Given the description of an element on the screen output the (x, y) to click on. 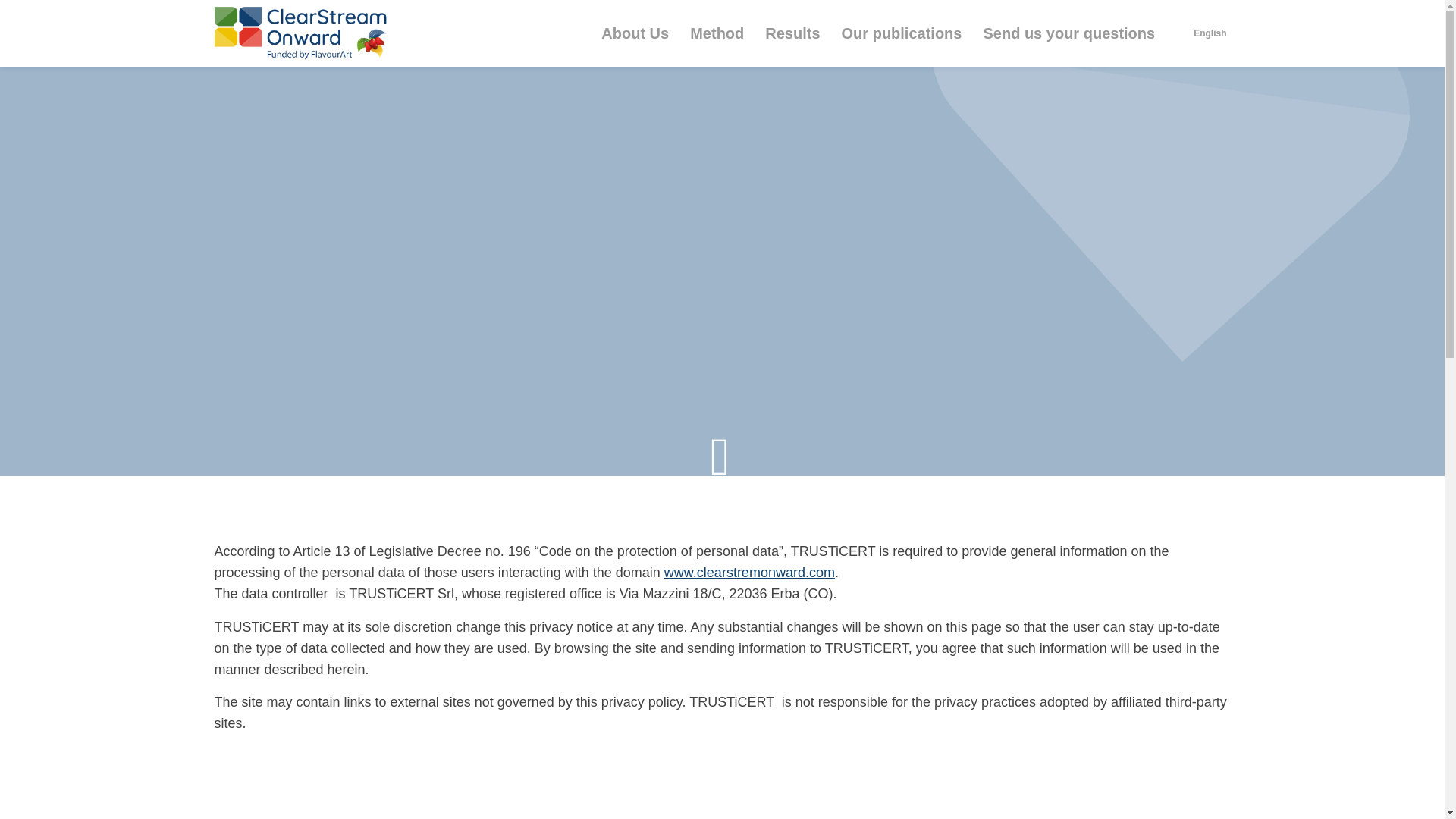
Our publications (901, 33)
Send us your questions (1069, 33)
Method (716, 33)
Results (791, 33)
www.clearstremonward.com (748, 592)
About Us (635, 33)
